Given the description of an element on the screen output the (x, y) to click on. 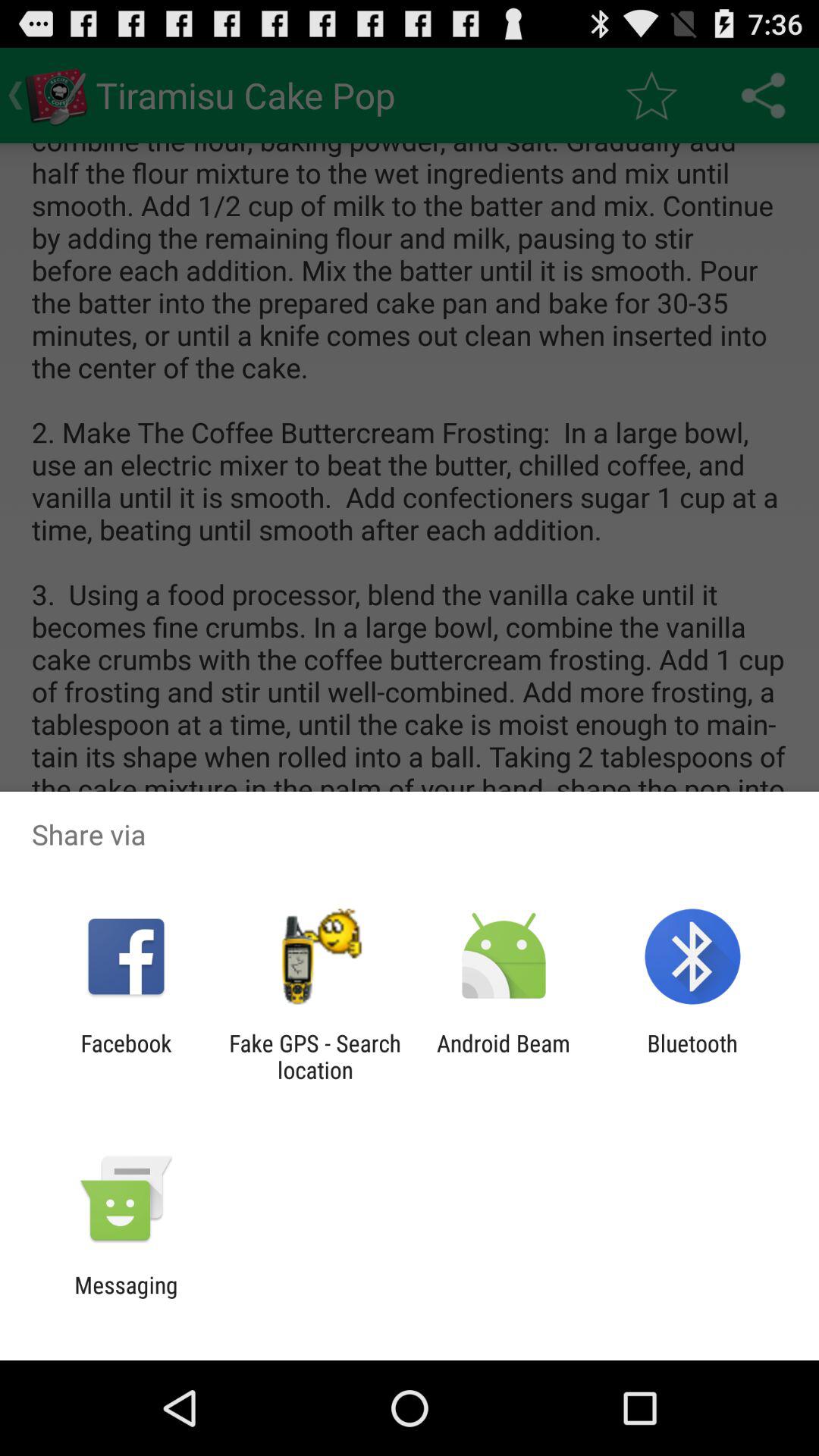
launch item next to bluetooth (503, 1056)
